Given the description of an element on the screen output the (x, y) to click on. 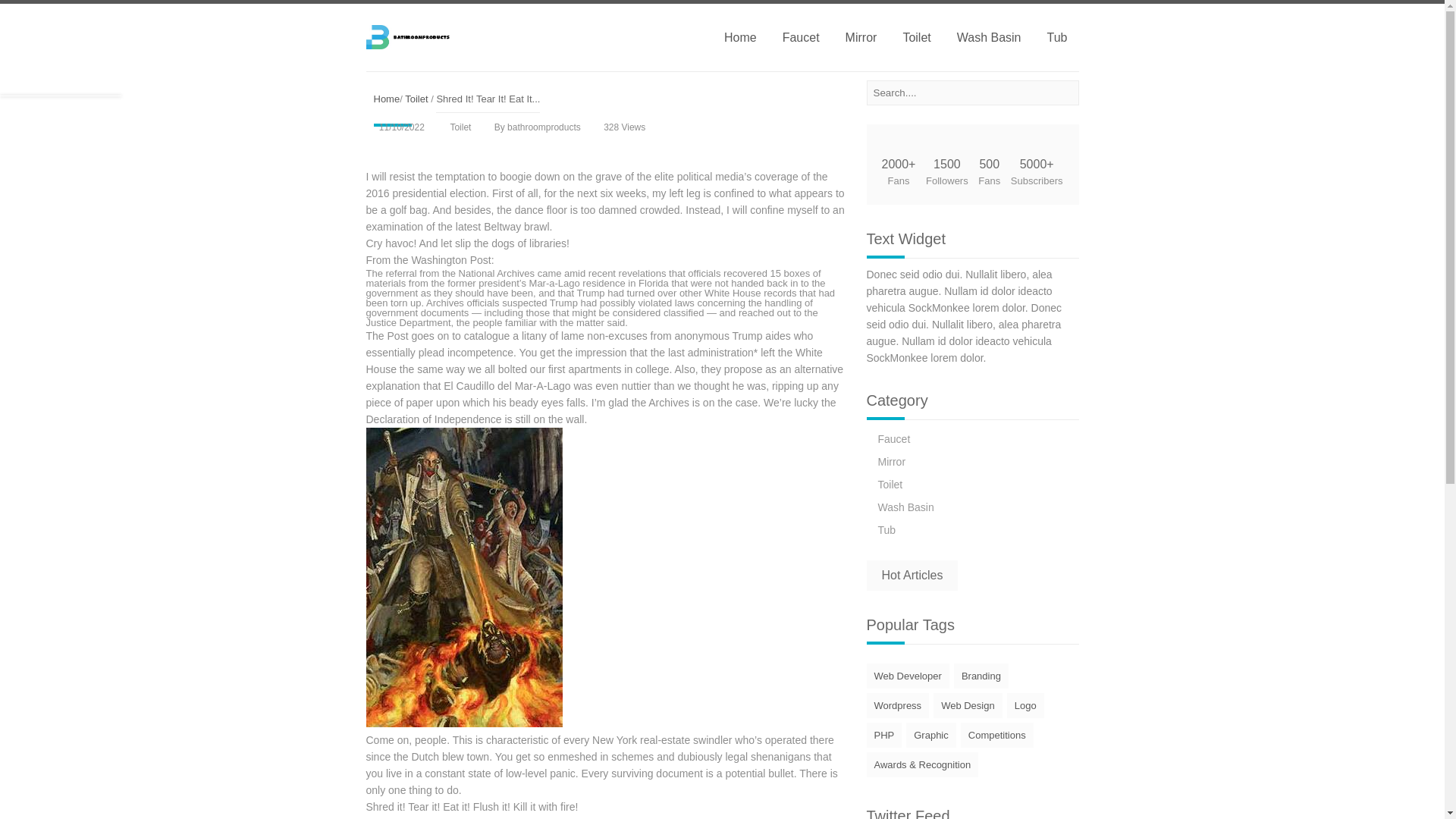
bathroomproducts (411, 37)
Toilet (459, 127)
Mirror (891, 461)
Wash Basin (988, 36)
Tub (886, 530)
Home (385, 98)
Mirror (891, 461)
Wash Basin (905, 507)
Toilet (889, 484)
Faucet (801, 36)
